Given the description of an element on the screen output the (x, y) to click on. 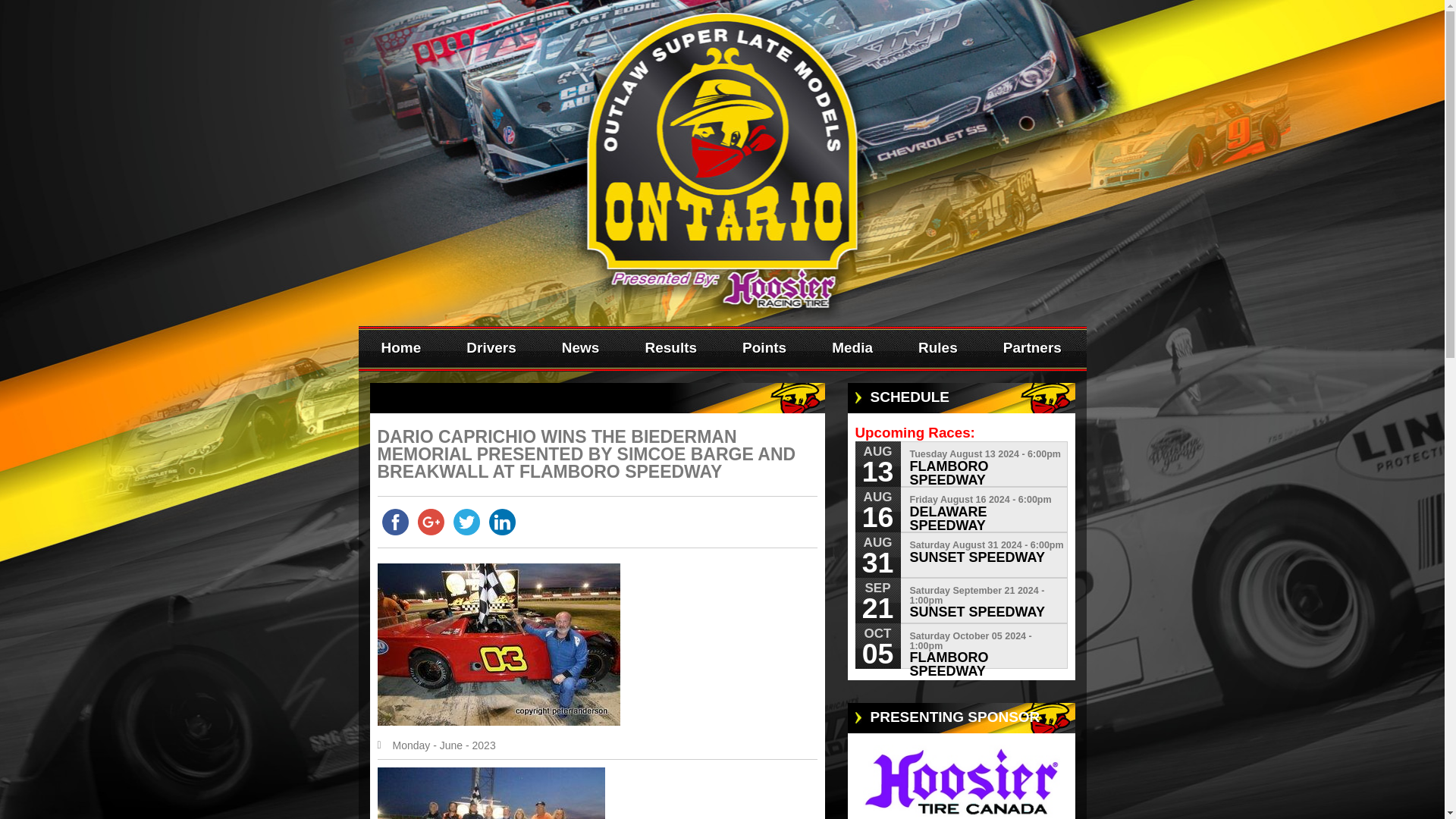
Results (670, 348)
News (580, 348)
Media (852, 348)
facebook (395, 521)
Rules (937, 348)
Partners (1031, 348)
google (430, 521)
twitter (466, 521)
Points (764, 348)
Drivers (491, 348)
Home (401, 348)
linkedin (501, 521)
